Given the description of an element on the screen output the (x, y) to click on. 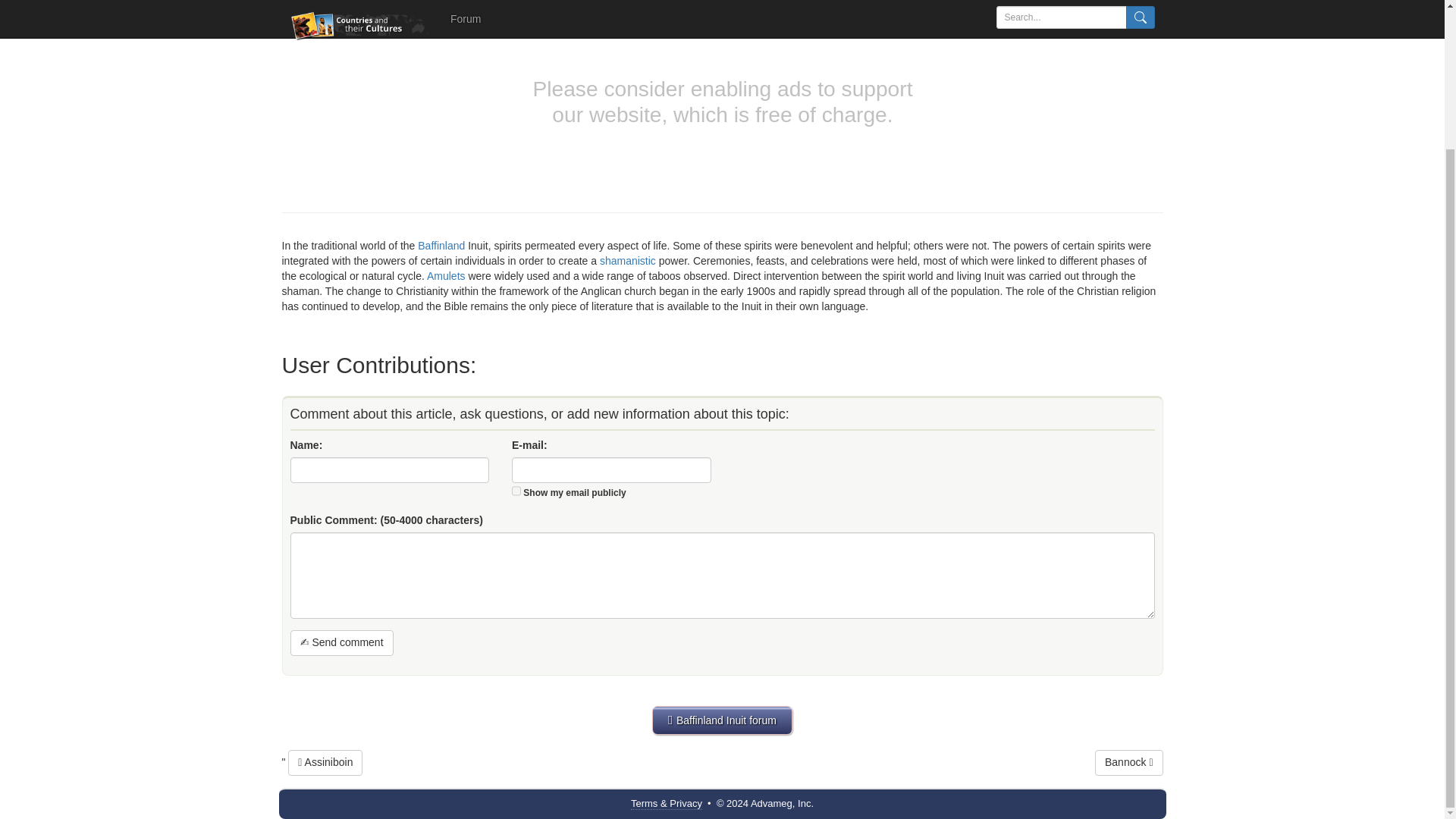
View 'amulets' definition from Wikipedia (445, 275)
View 'baffinland' definition from Wikipedia (440, 245)
shamanistic (627, 260)
Bannock (1128, 762)
Baffinland (440, 245)
Assiniboin (325, 762)
Amulets (445, 275)
1 (516, 491)
View 'shamanistic' definition from Wikipedia (627, 260)
Baffinland Inuit forum (722, 719)
